Given the description of an element on the screen output the (x, y) to click on. 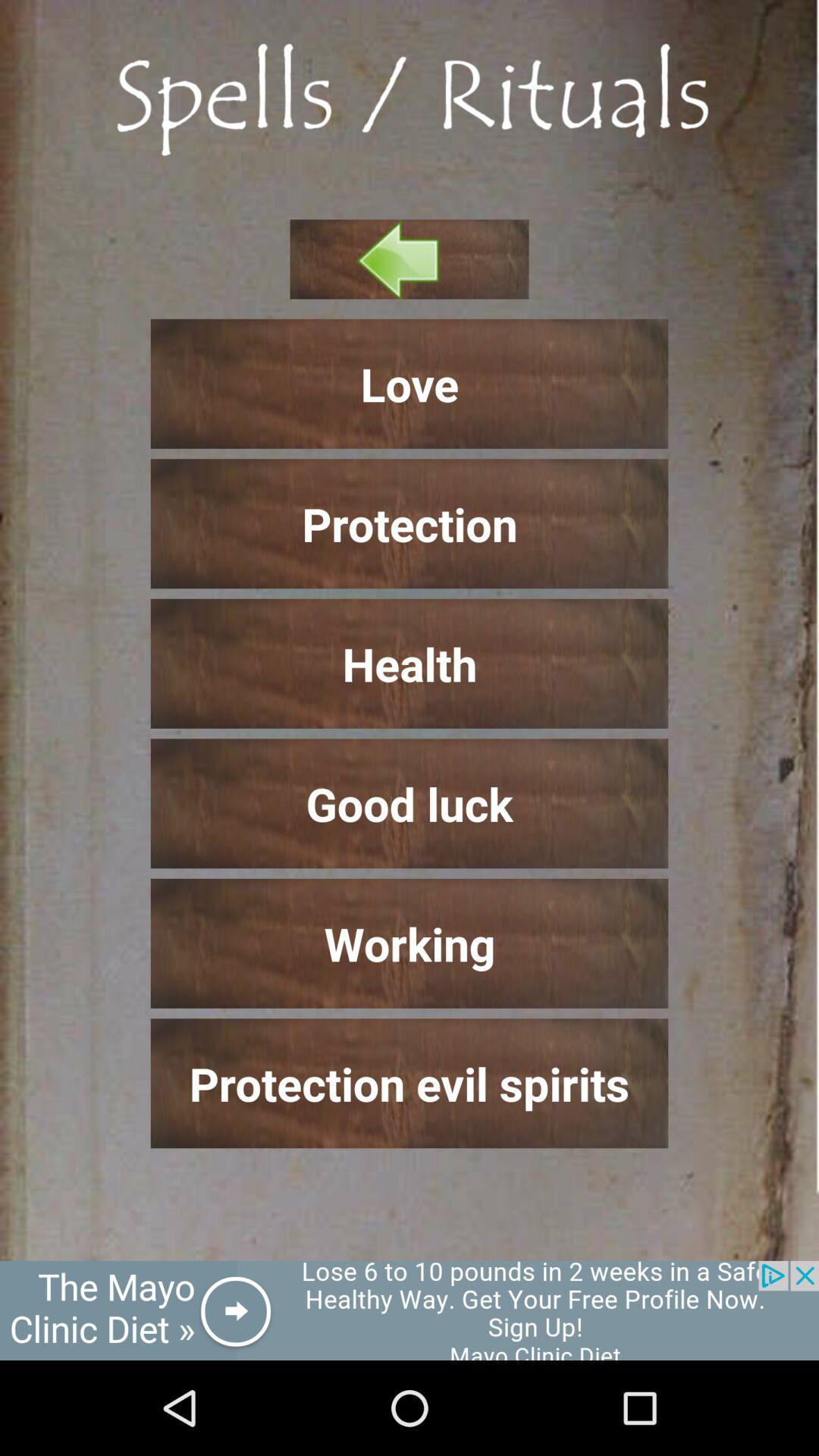
go to previous page (409, 259)
